Given the description of an element on the screen output the (x, y) to click on. 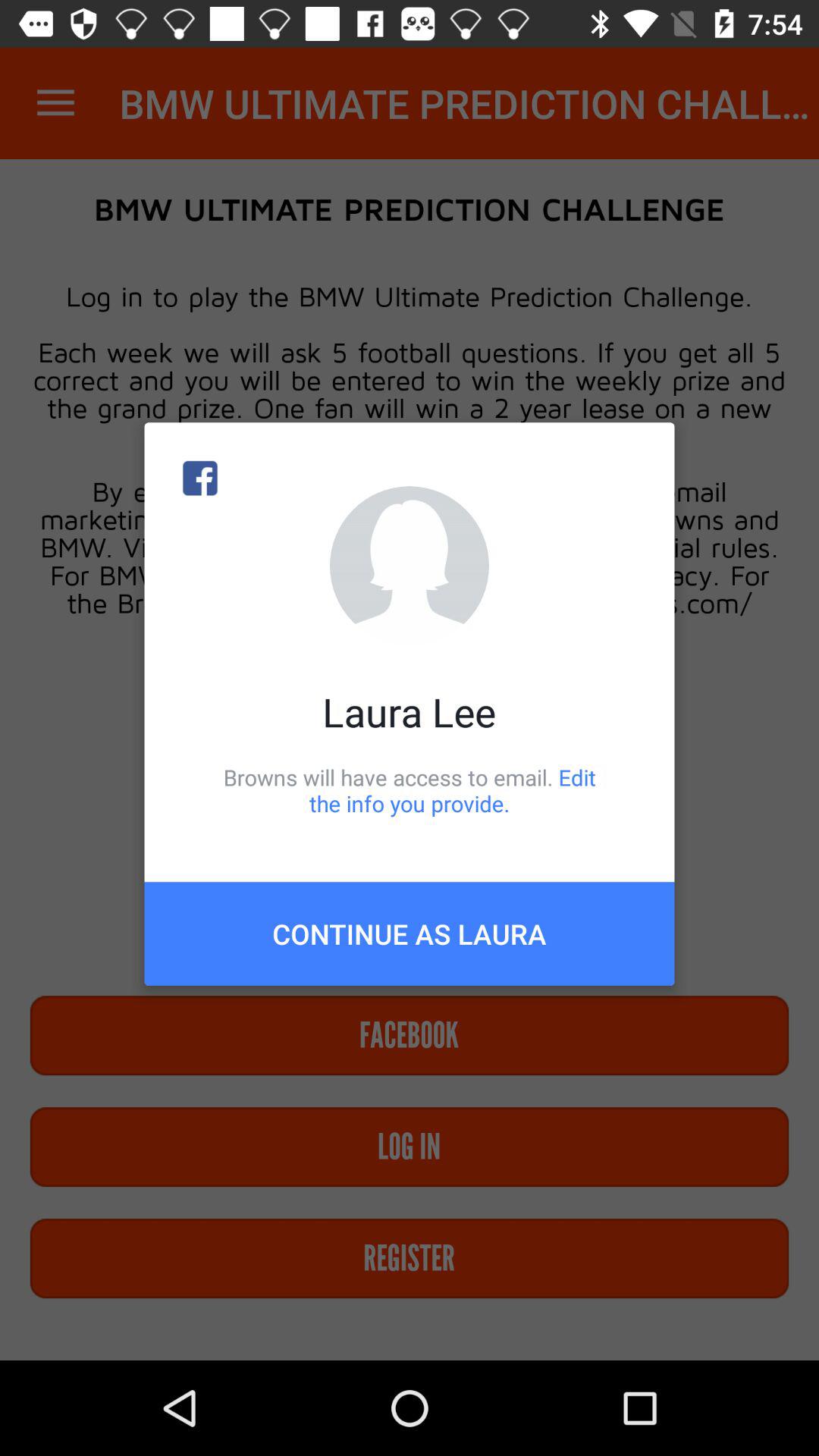
scroll to the browns will have (409, 790)
